Given the description of an element on the screen output the (x, y) to click on. 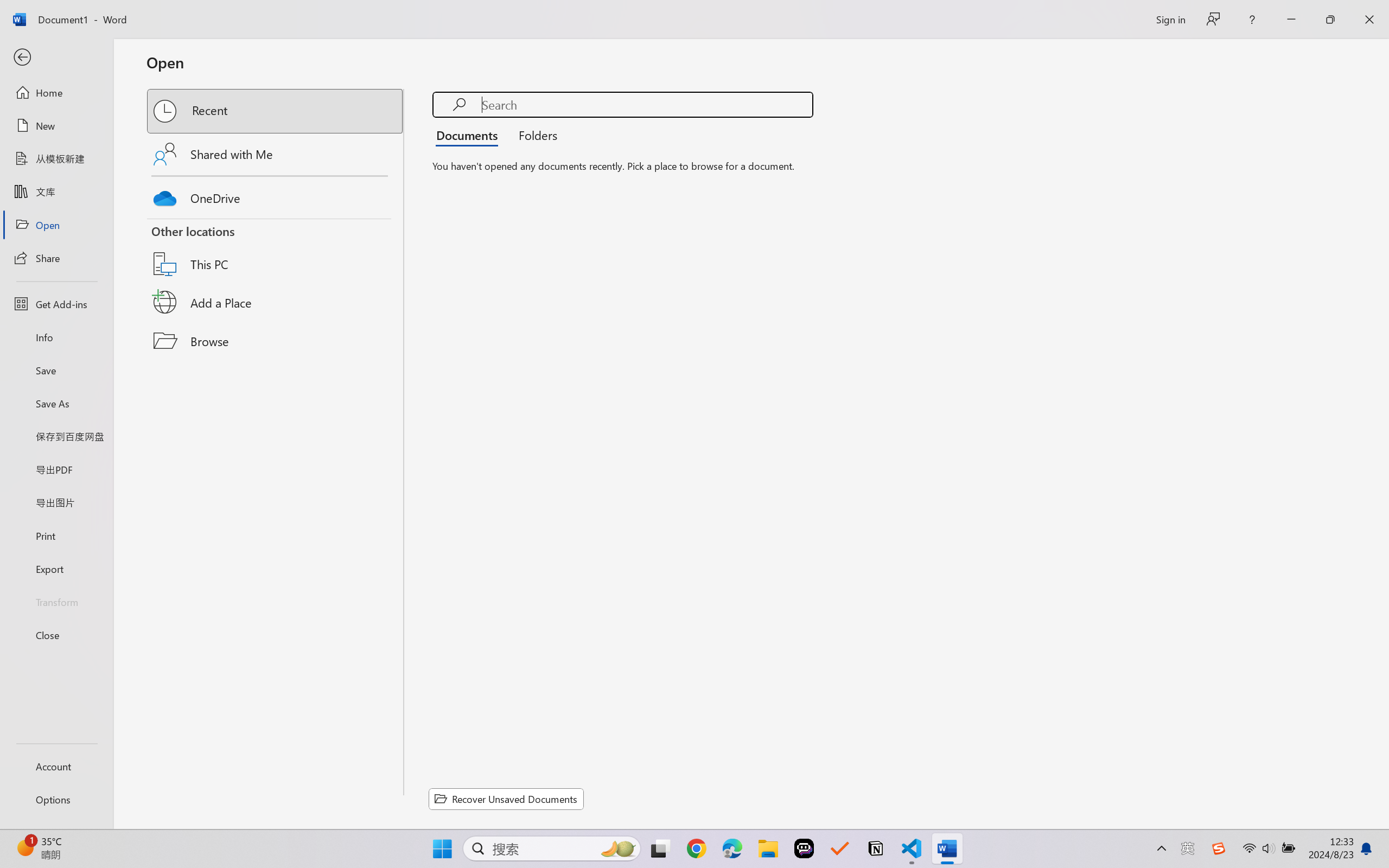
Print (56, 535)
Browse (275, 340)
Transform (56, 601)
New (56, 125)
Add a Place (275, 302)
Back (56, 57)
